Given the description of an element on the screen output the (x, y) to click on. 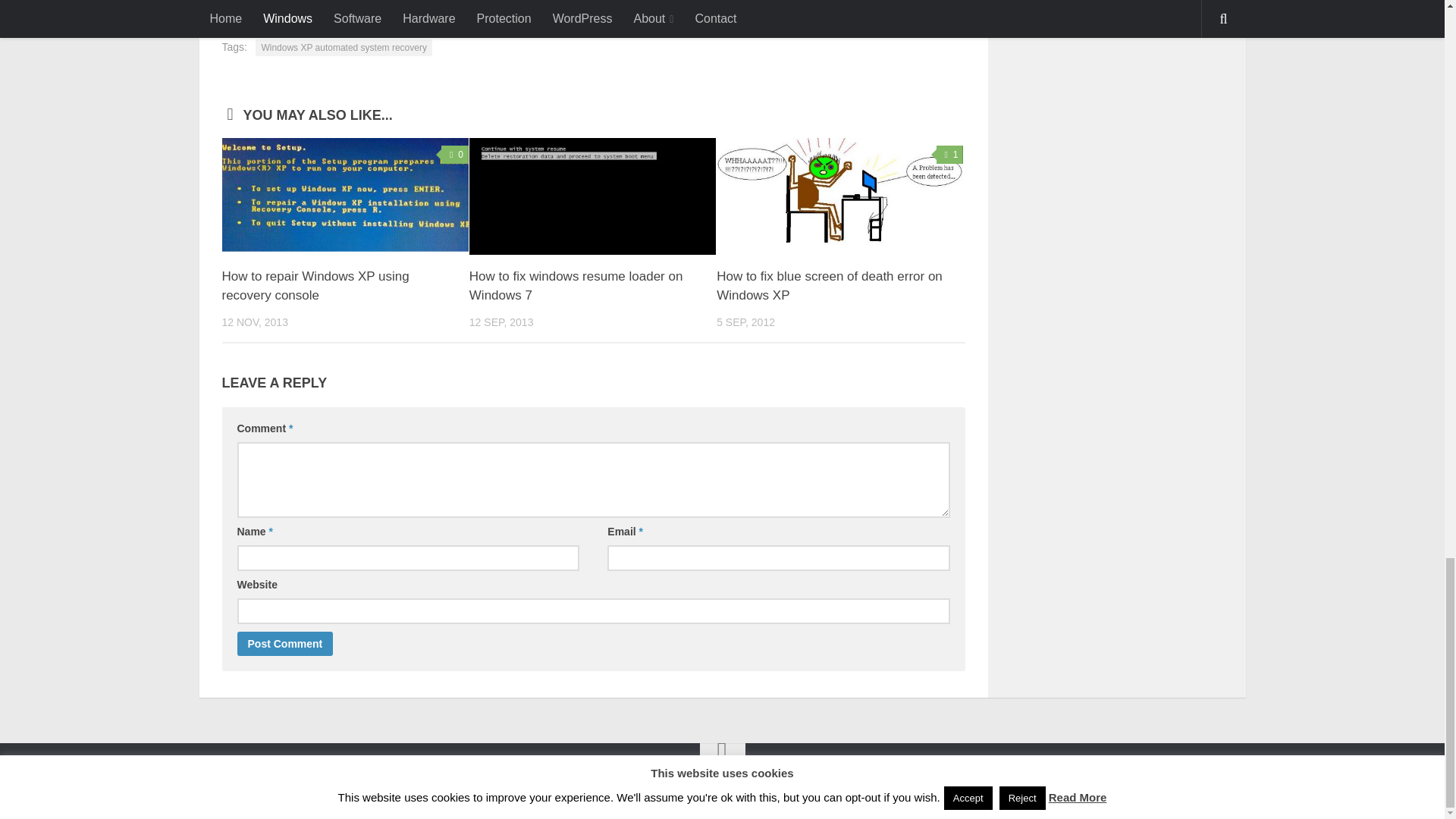
Windows XP automated system recovery (344, 47)
1 (949, 154)
Post Comment (284, 643)
Post Comment (284, 643)
0 (454, 154)
How to repair Windows XP using recovery console (344, 195)
How to repair Windows XP using recovery console (315, 286)
How to fix blue screen of death error on Windows XP (829, 286)
How to fix windows resume loader on Windows 7 (575, 286)
How to fix blue screen of death error on Windows XP (839, 195)
How to repair Windows XP using recovery console (315, 286)
How to fix windows resume loader on Windows 7 (592, 195)
How to fix windows resume loader on Windows 7 (575, 286)
How to fix blue screen of death error on Windows XP (829, 286)
